Given the description of an element on the screen output the (x, y) to click on. 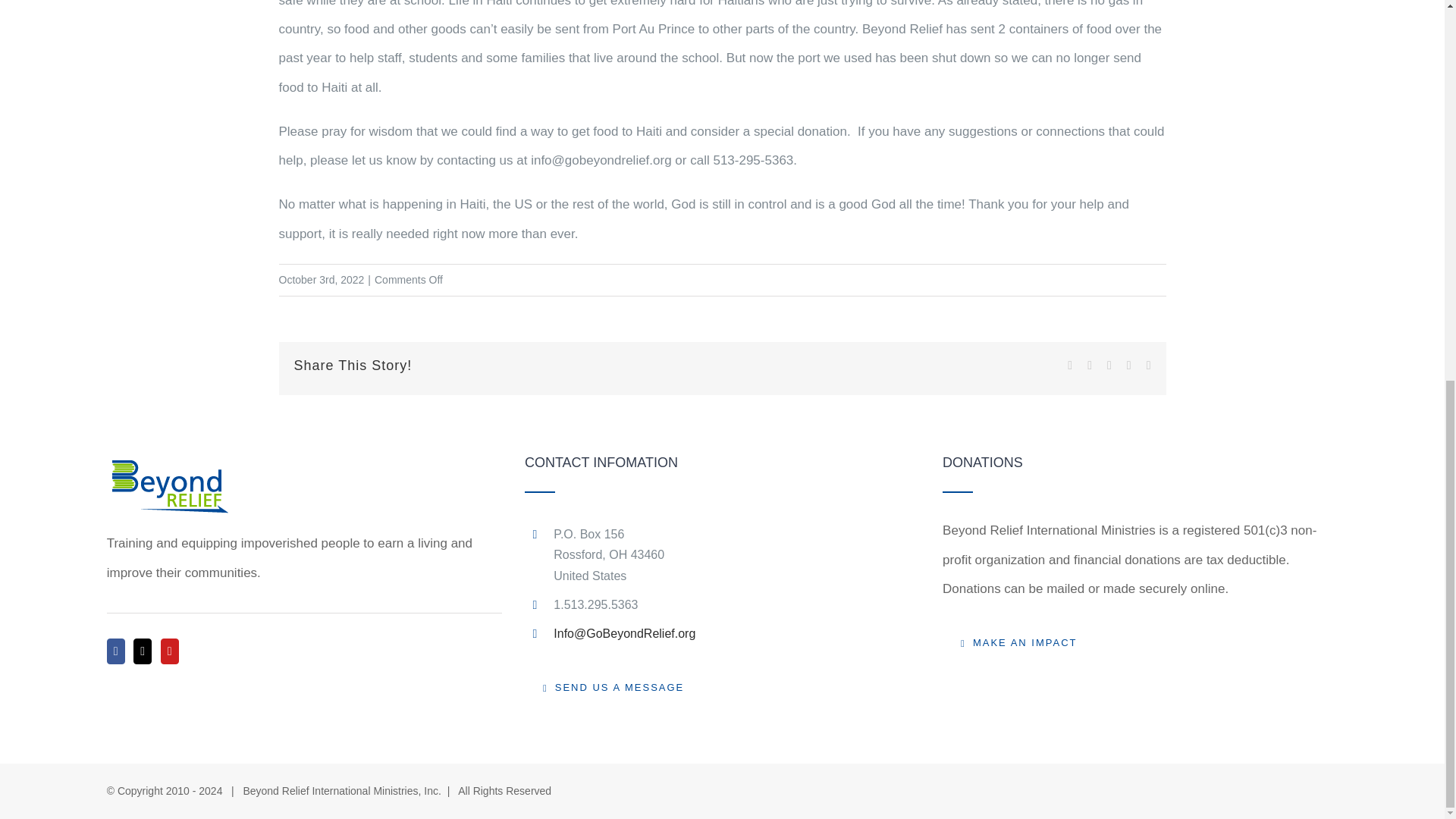
MAKE AN IMPACT (1018, 643)
SEND US A MESSAGE (612, 687)
